Given the description of an element on the screen output the (x, y) to click on. 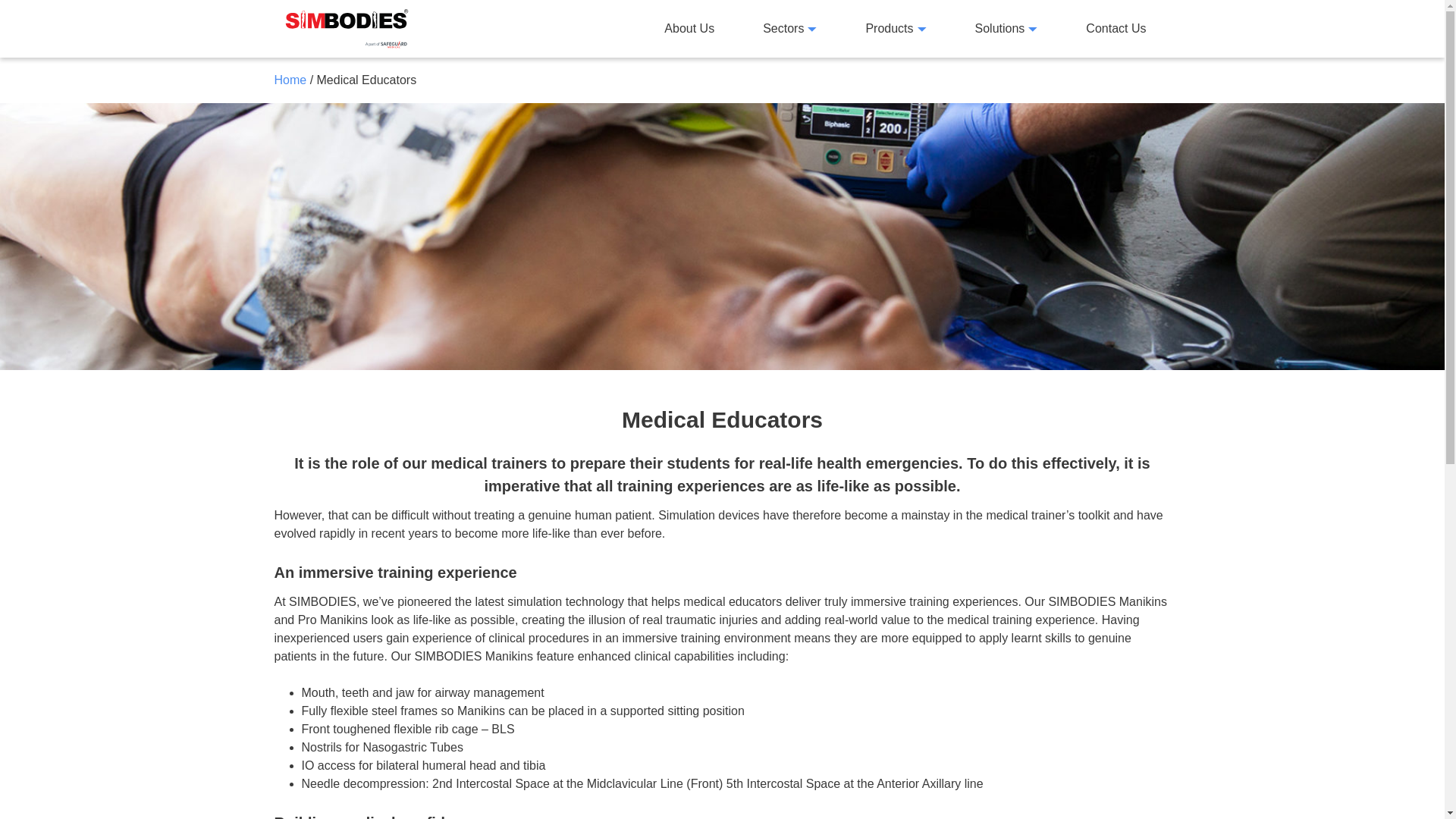
Contact Us (1115, 28)
Home (291, 79)
Simbodies (347, 28)
About Us (689, 28)
Products (895, 28)
Solutions (1006, 28)
Simbodies (347, 28)
Sectors (789, 28)
